Given the description of an element on the screen output the (x, y) to click on. 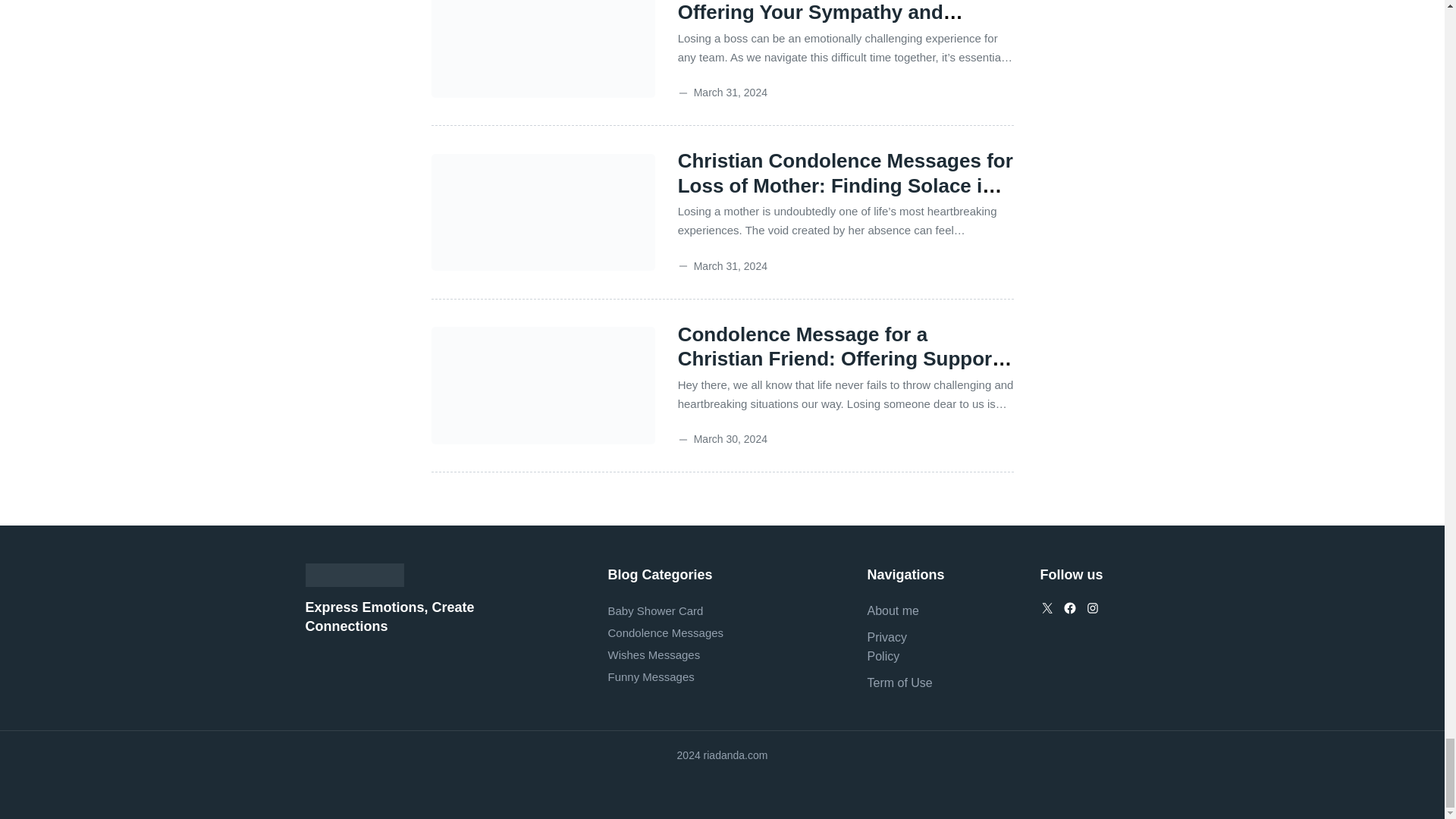
riadanda (353, 574)
